Given the description of an element on the screen output the (x, y) to click on. 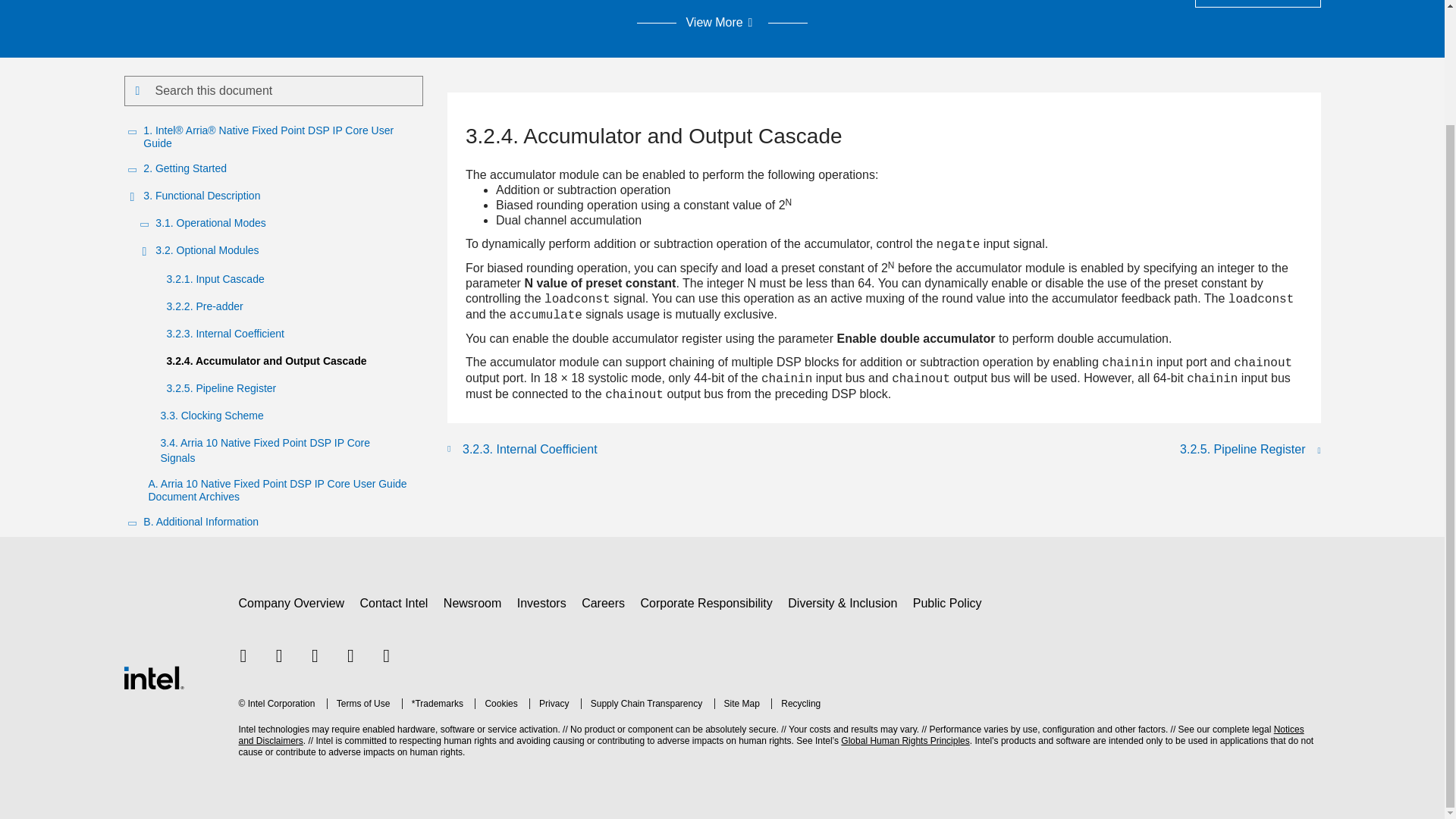
Intel Footer Logo (152, 676)
